Given the description of an element on the screen output the (x, y) to click on. 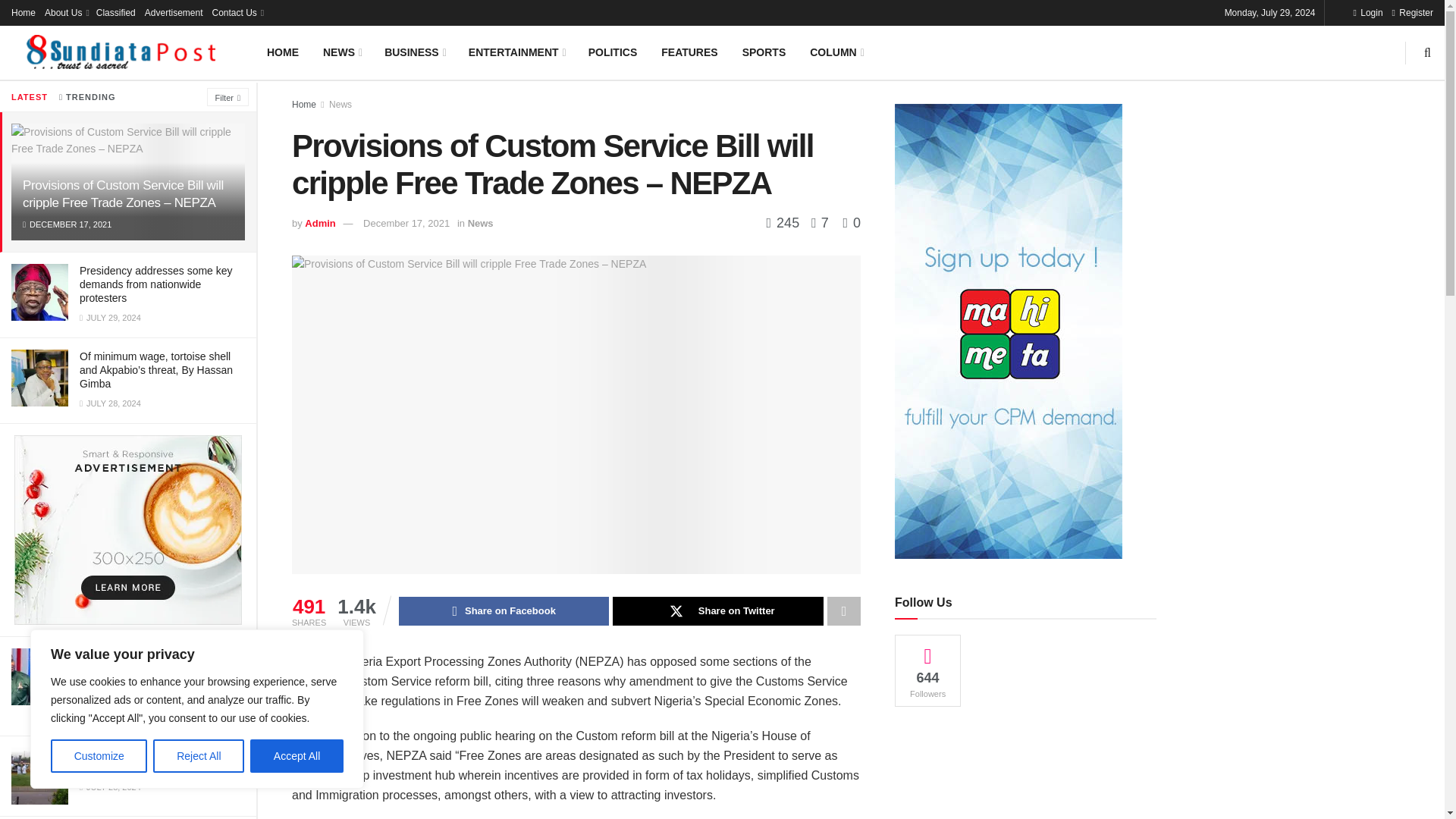
Accept All (296, 756)
Customize (98, 756)
Advertisement (1025, 778)
Filter (227, 96)
Reject All (198, 756)
